Given the description of an element on the screen output the (x, y) to click on. 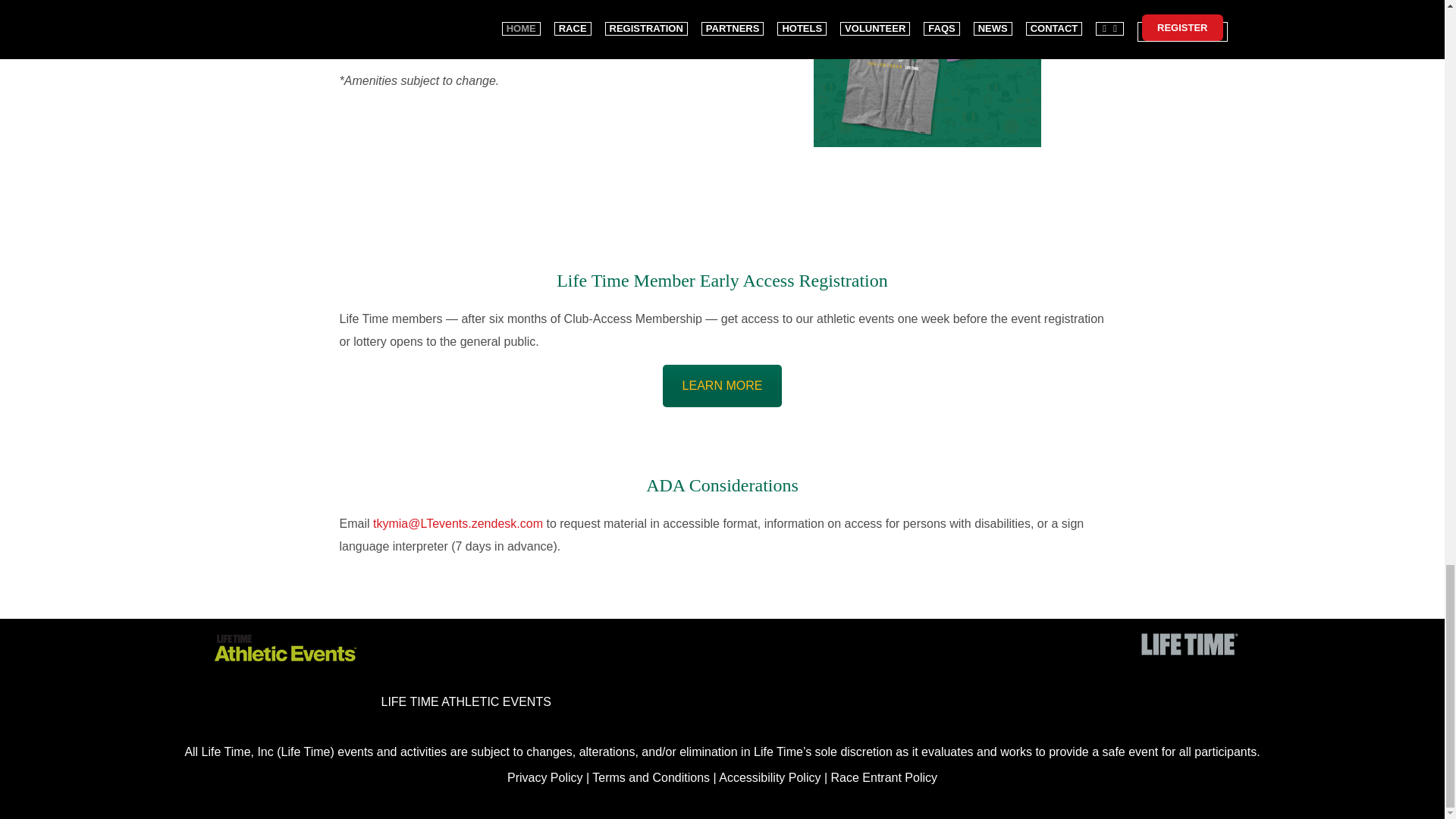
Awards and Prize Purse (434, 22)
LEARN MORE (722, 385)
Baptist Health Pineapple Race Series (470, 45)
